Given the description of an element on the screen output the (x, y) to click on. 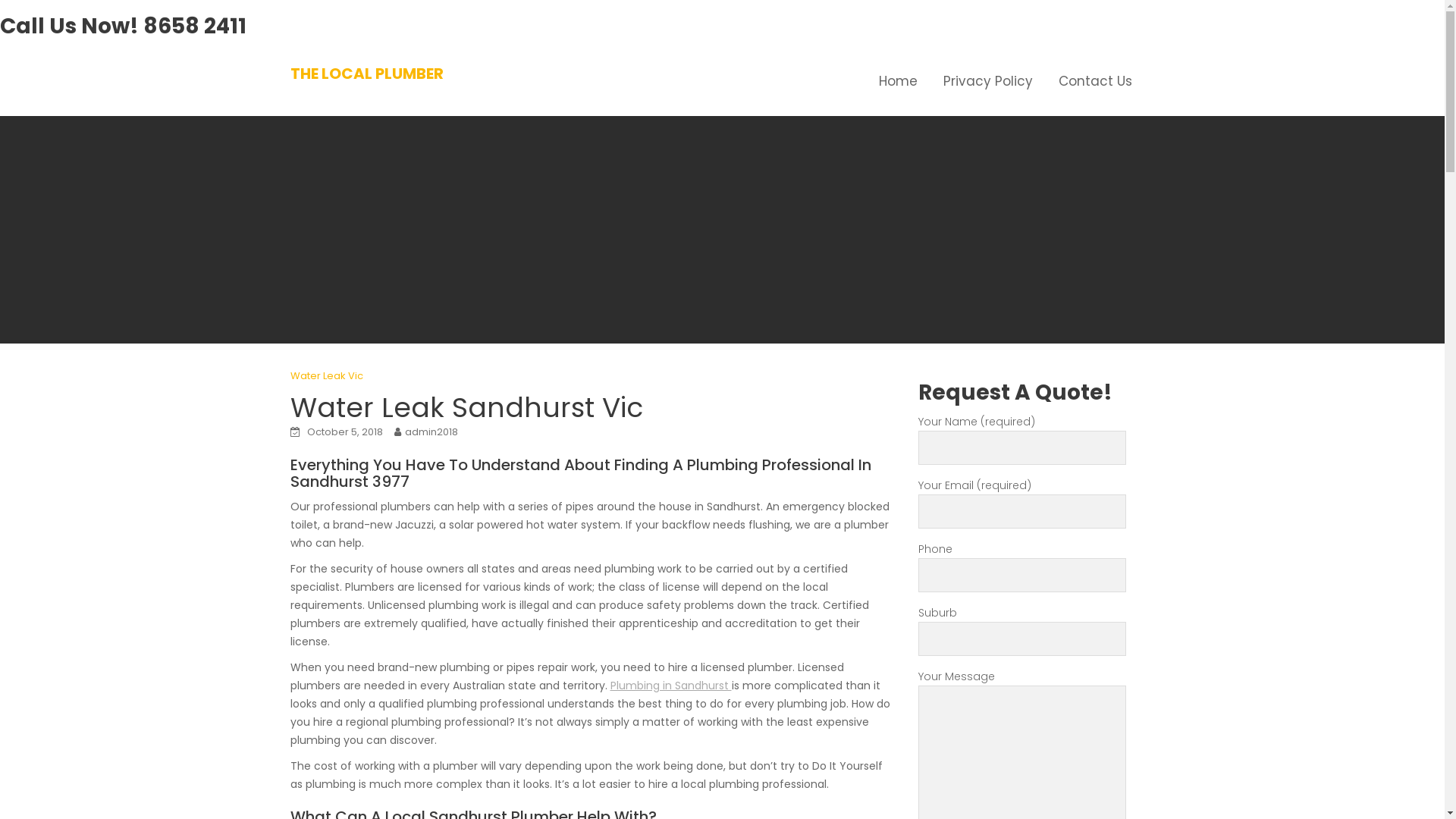
Contact Us Element type: text (1094, 81)
Privacy Policy Element type: text (987, 81)
8658 2411 Element type: text (194, 25)
Water Leak Vic Element type: text (325, 375)
Home Element type: text (897, 81)
Plumbing in Sandhurst Element type: text (670, 685)
October 5, 2018 Element type: text (344, 431)
admin2018 Element type: text (431, 431)
THE LOCAL PLUMBER Element type: text (365, 73)
